Given the description of an element on the screen output the (x, y) to click on. 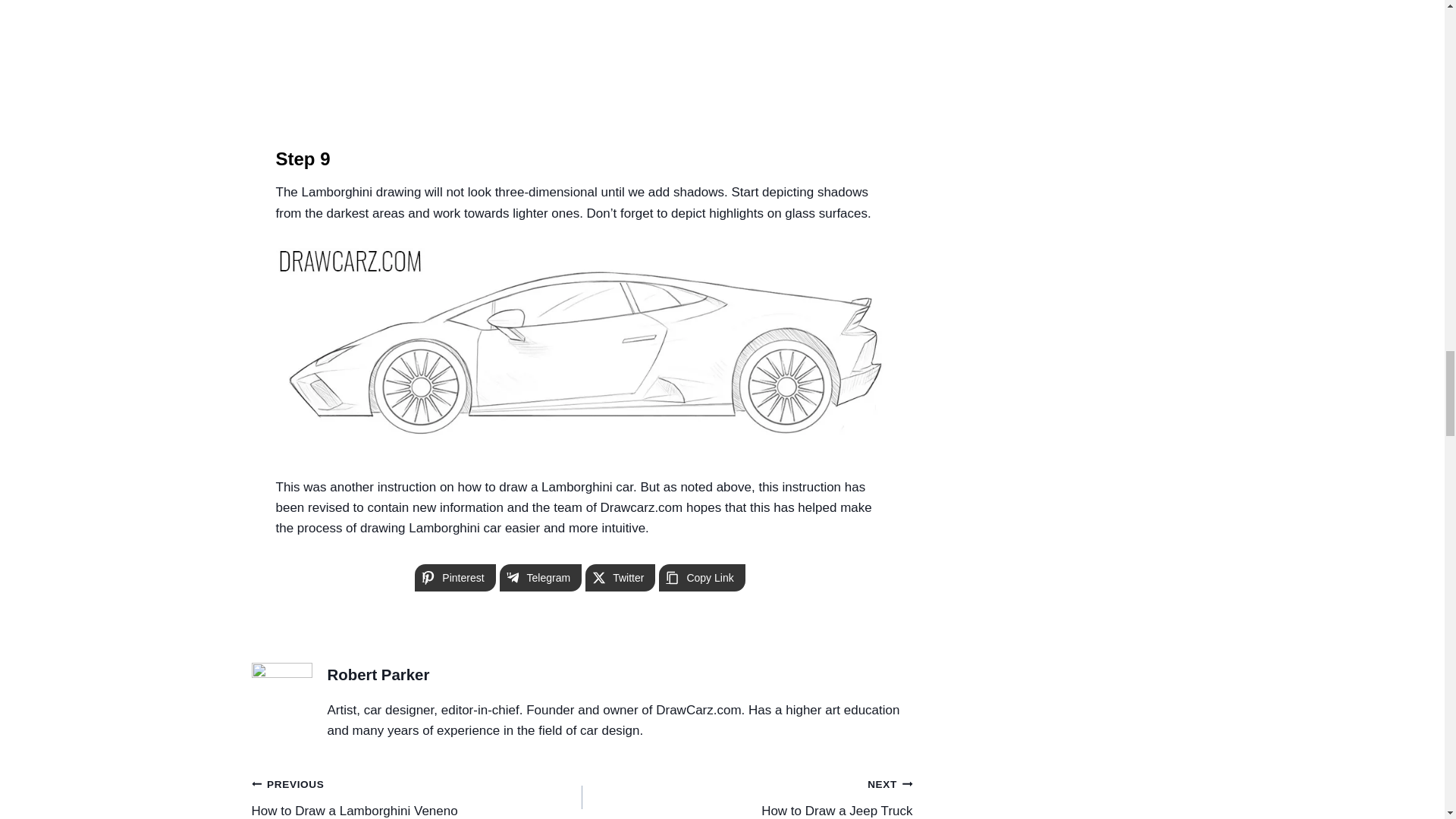
Share on Twitter (620, 577)
Share on Pinterest (454, 577)
Telegram (540, 577)
Share on Telegram (540, 577)
Pinterest (454, 577)
Share on Copy Link (747, 796)
Copy Link (701, 577)
Twitter (701, 577)
